Given the description of an element on the screen output the (x, y) to click on. 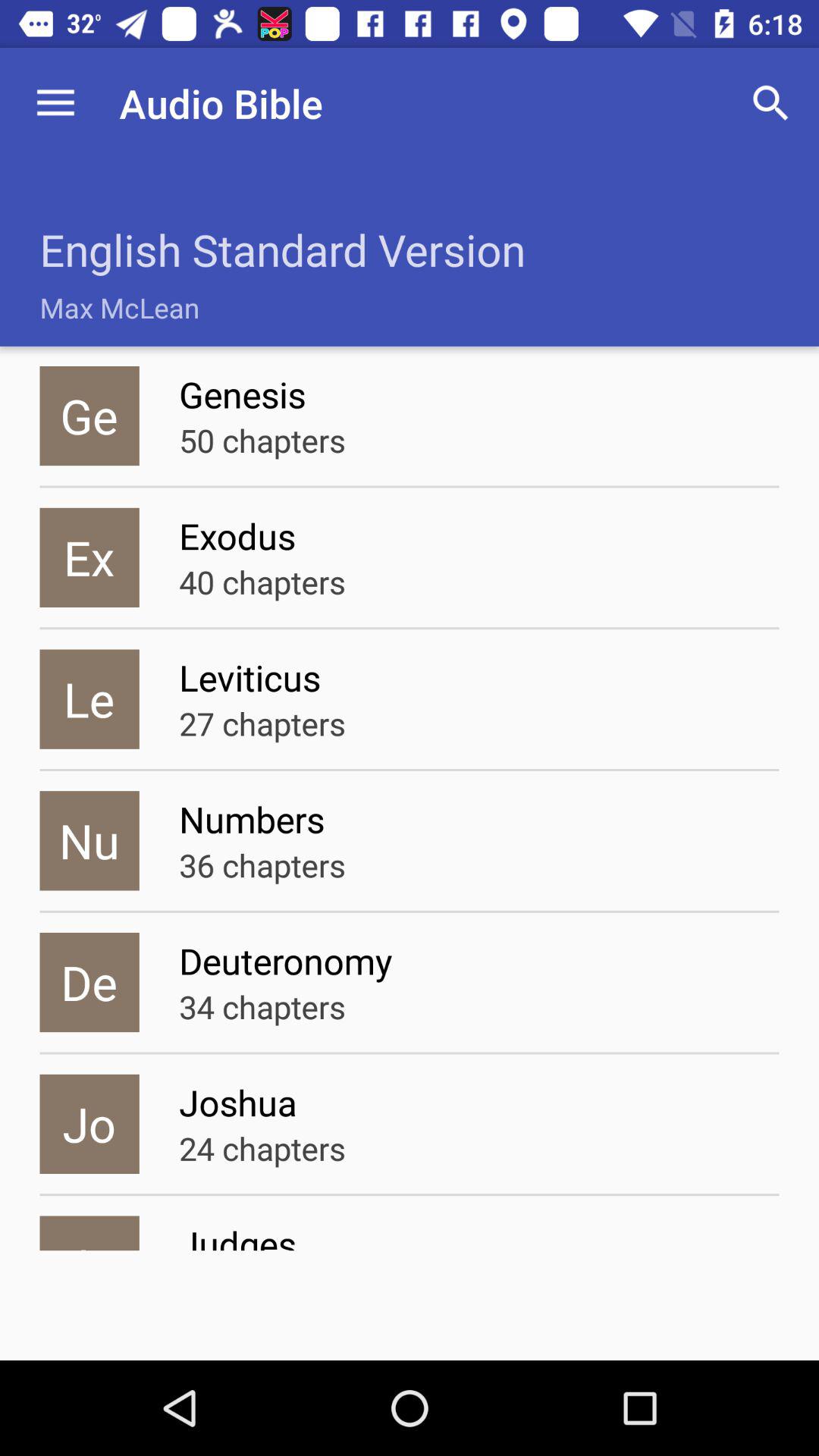
launch the icon to the left of genesis icon (89, 415)
